Given the description of an element on the screen output the (x, y) to click on. 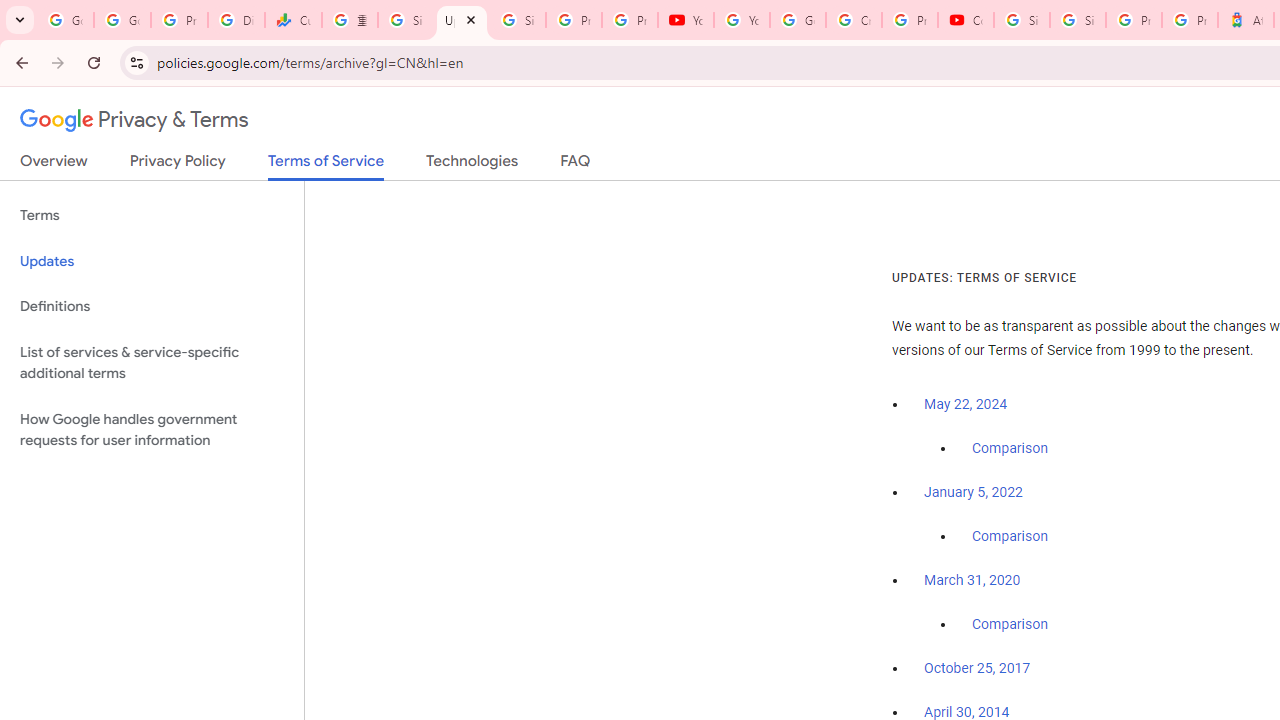
January 5, 2022 (973, 492)
Sign in - Google Accounts (405, 20)
Create your Google Account (853, 20)
Sign in - Google Accounts (1077, 20)
Comparison (1009, 625)
